Given the description of an element on the screen output the (x, y) to click on. 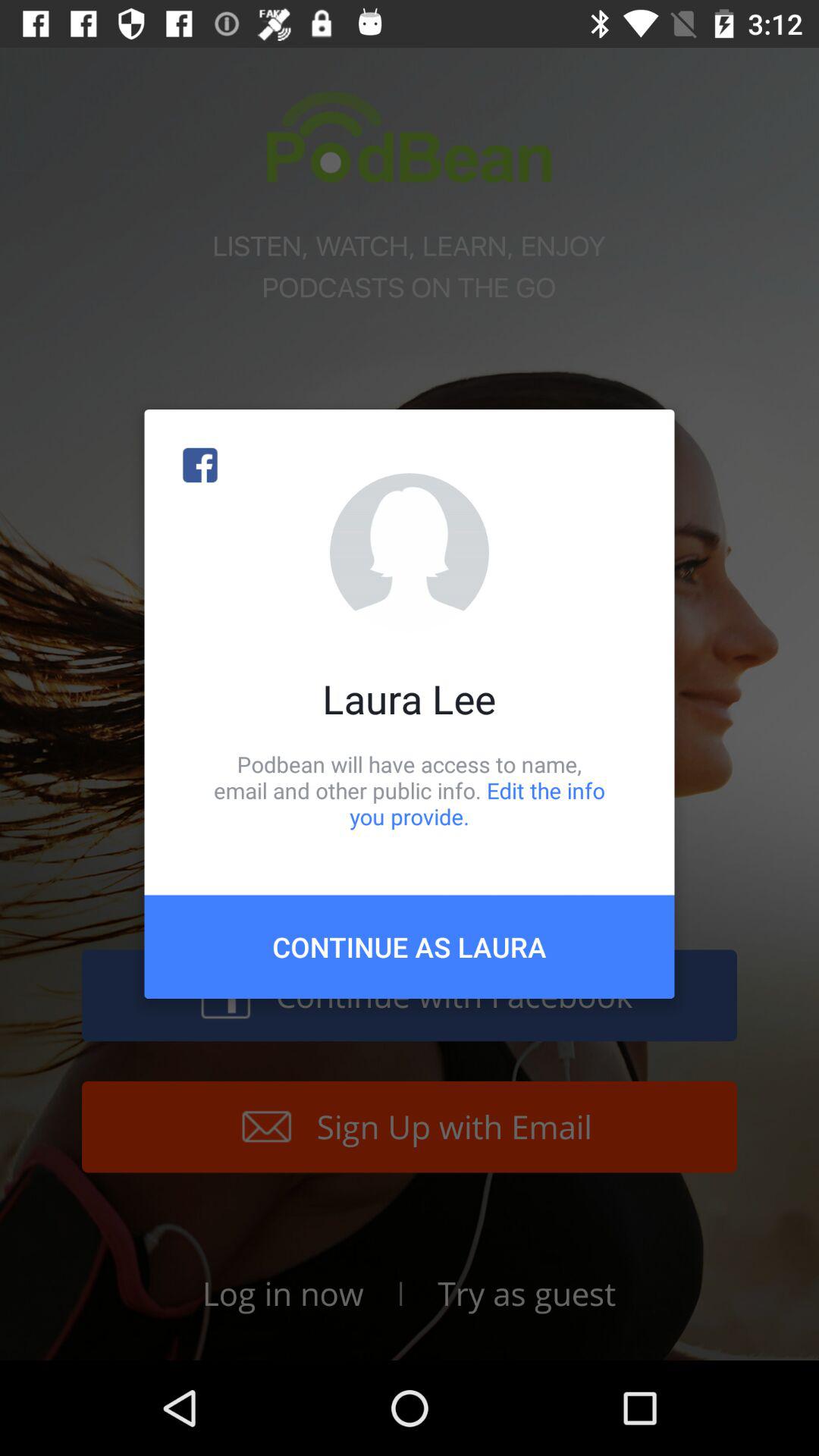
choose continue as laura (409, 946)
